Given the description of an element on the screen output the (x, y) to click on. 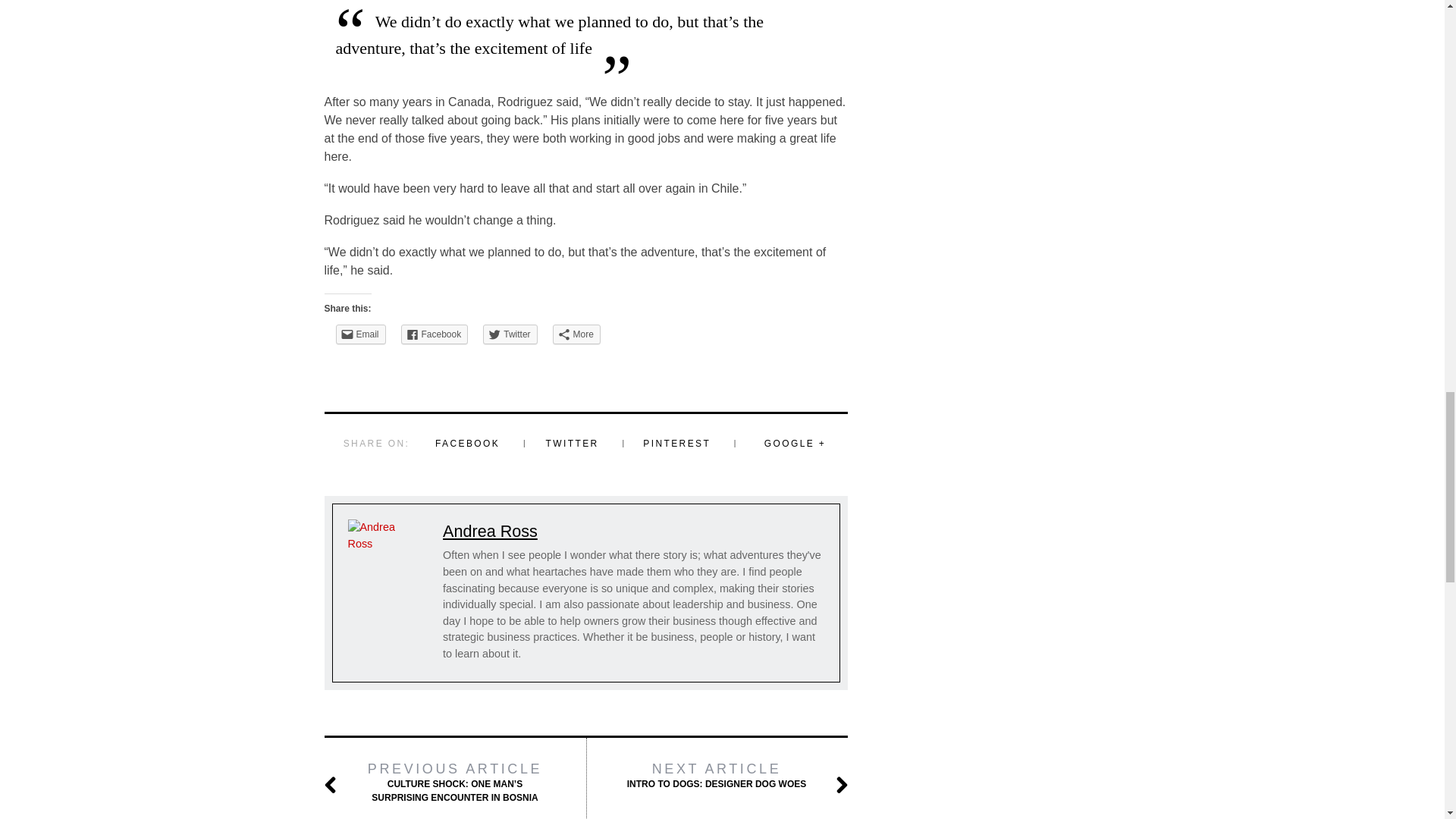
Click to share on Twitter (510, 333)
Click to share on Facebook (434, 333)
Click to email this to a friend (359, 333)
